Given the description of an element on the screen output the (x, y) to click on. 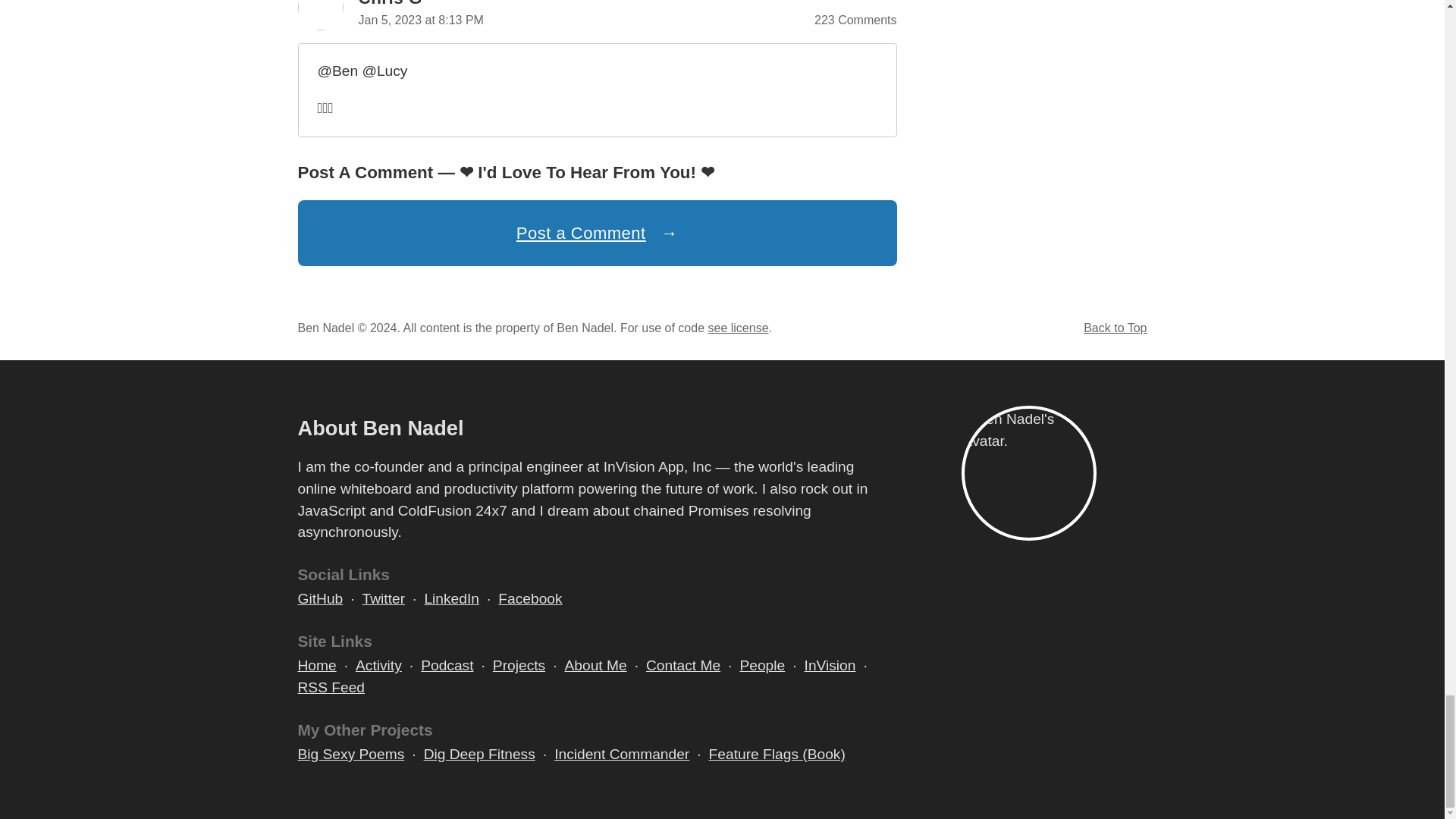
Ben Nadel's podcast, Working Code. (446, 666)
Recent activity on Ben Nadel's blog. (378, 666)
Follow Ben Nadel on LinkedIn. (451, 599)
Ben Nadel's Blog on modern web application development (316, 666)
Follow Ben Nadel on Twitter. (384, 599)
Follow Ben Nadel on GitHub. (319, 599)
Follow Ben Nadel on Facebook. (529, 599)
